Given the description of an element on the screen output the (x, y) to click on. 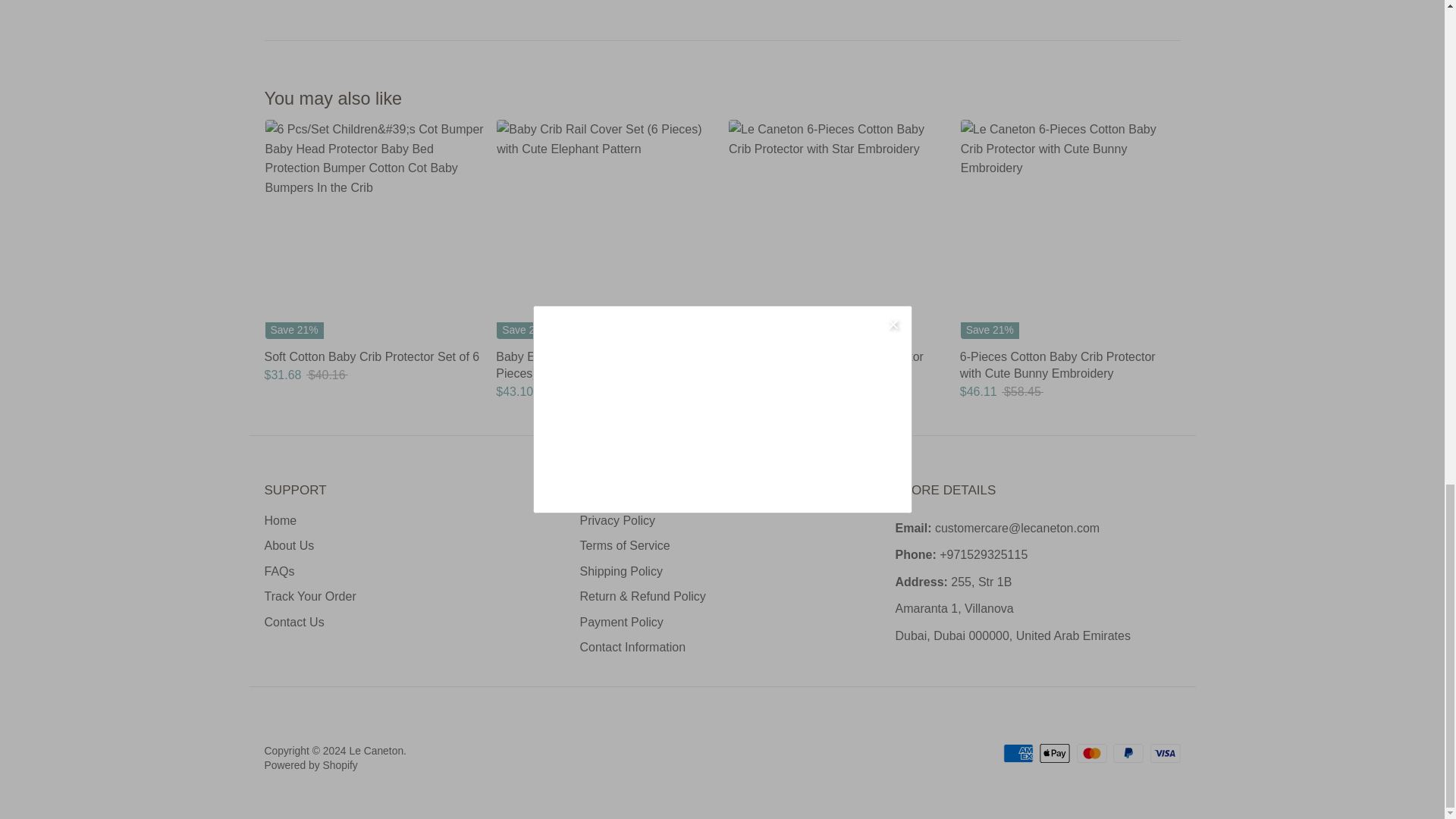
Visa (1164, 752)
American Express (1018, 752)
PayPal (1127, 752)
Mastercard (1091, 752)
Apple Pay (1054, 752)
